Given the description of an element on the screen output the (x, y) to click on. 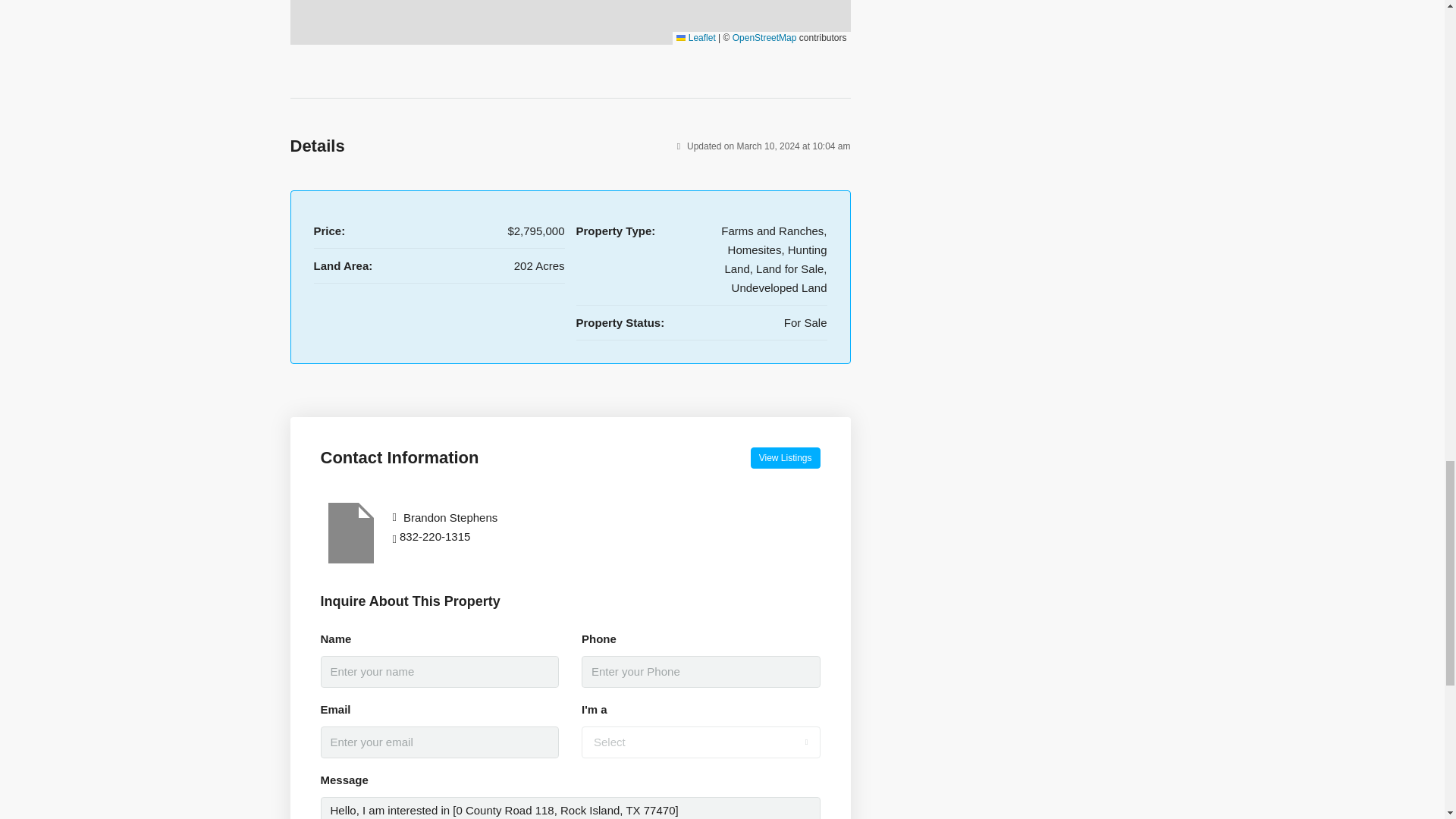
Select (700, 742)
A JavaScript library for interactive maps (695, 37)
